Given the description of an element on the screen output the (x, y) to click on. 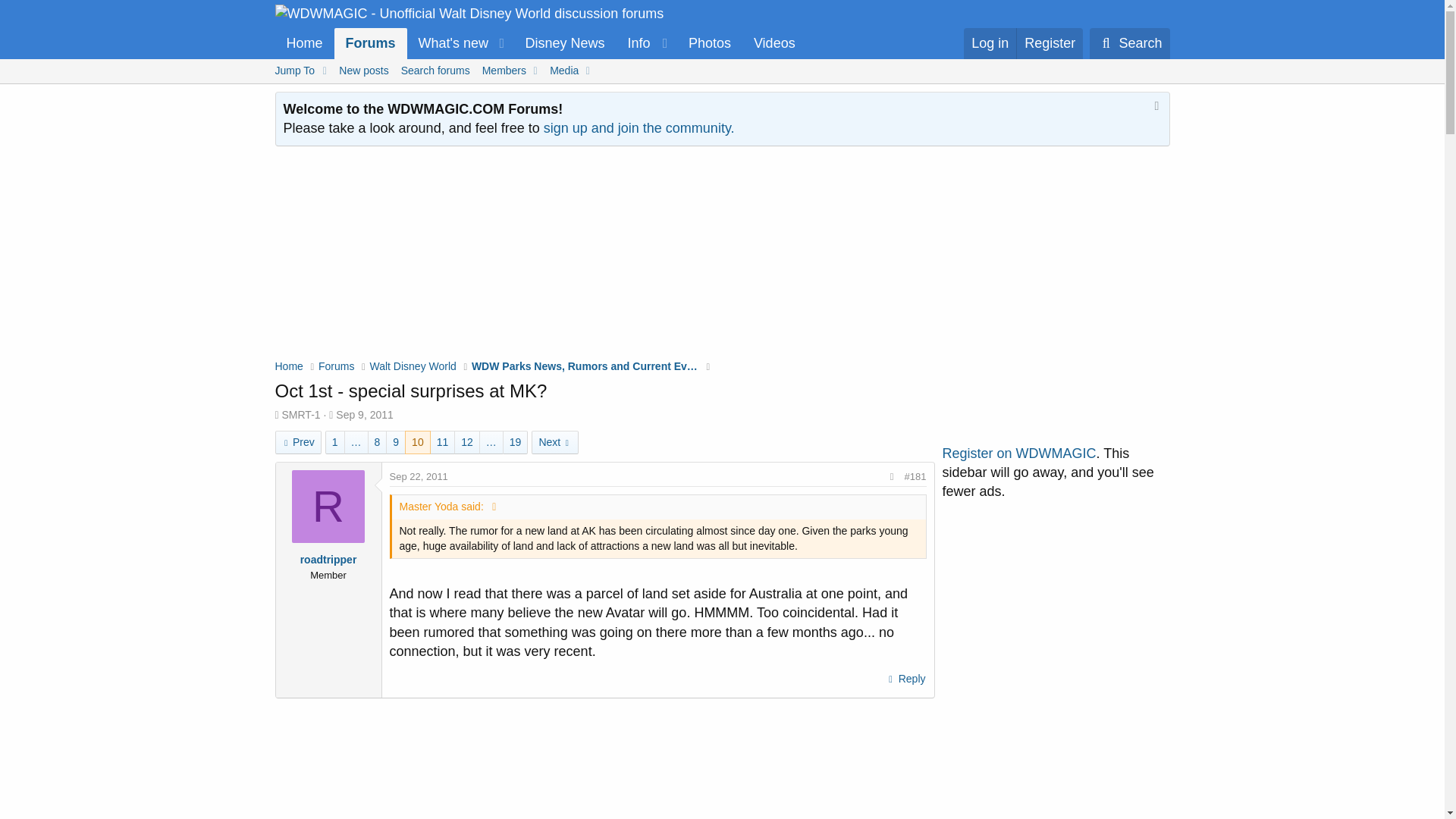
Sep 22, 2011 at 1:11 PM (419, 476)
Thread starter (539, 42)
Home (491, 442)
Go to page (304, 42)
Dismiss notice (354, 442)
Forums (1154, 107)
Sep 9, 2011 at 12:44 PM (370, 42)
Disney News (364, 414)
Search (539, 42)
Start date (564, 42)
Info (1129, 42)
